Given the description of an element on the screen output the (x, y) to click on. 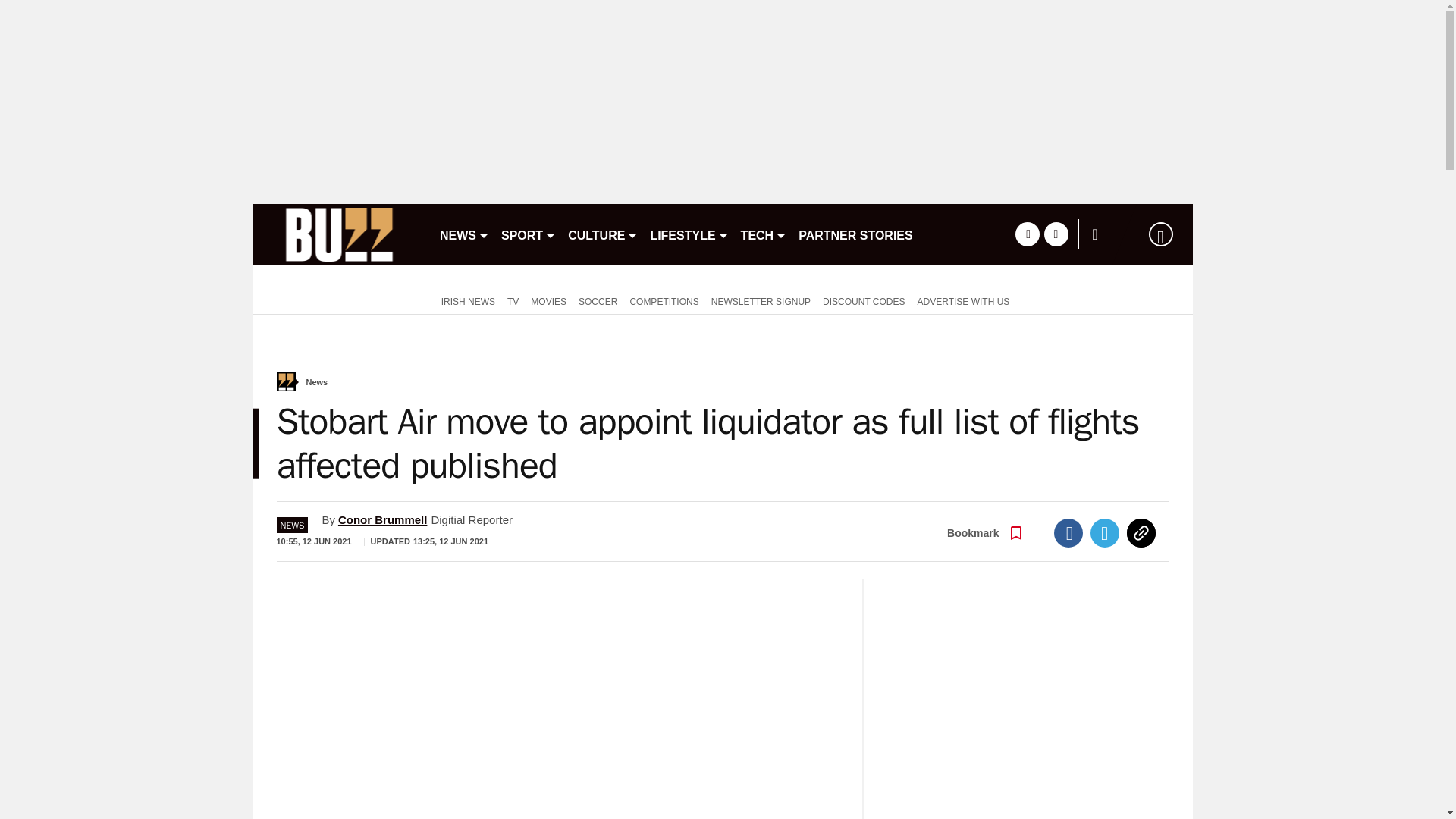
TECH (764, 233)
CULTURE (602, 233)
facebook (1026, 233)
PARTNER STORIES (855, 233)
NEWS (464, 233)
buzz (338, 233)
twitter (1055, 233)
LIFESTYLE (688, 233)
SPORT (528, 233)
Facebook (1068, 532)
